Given the description of an element on the screen output the (x, y) to click on. 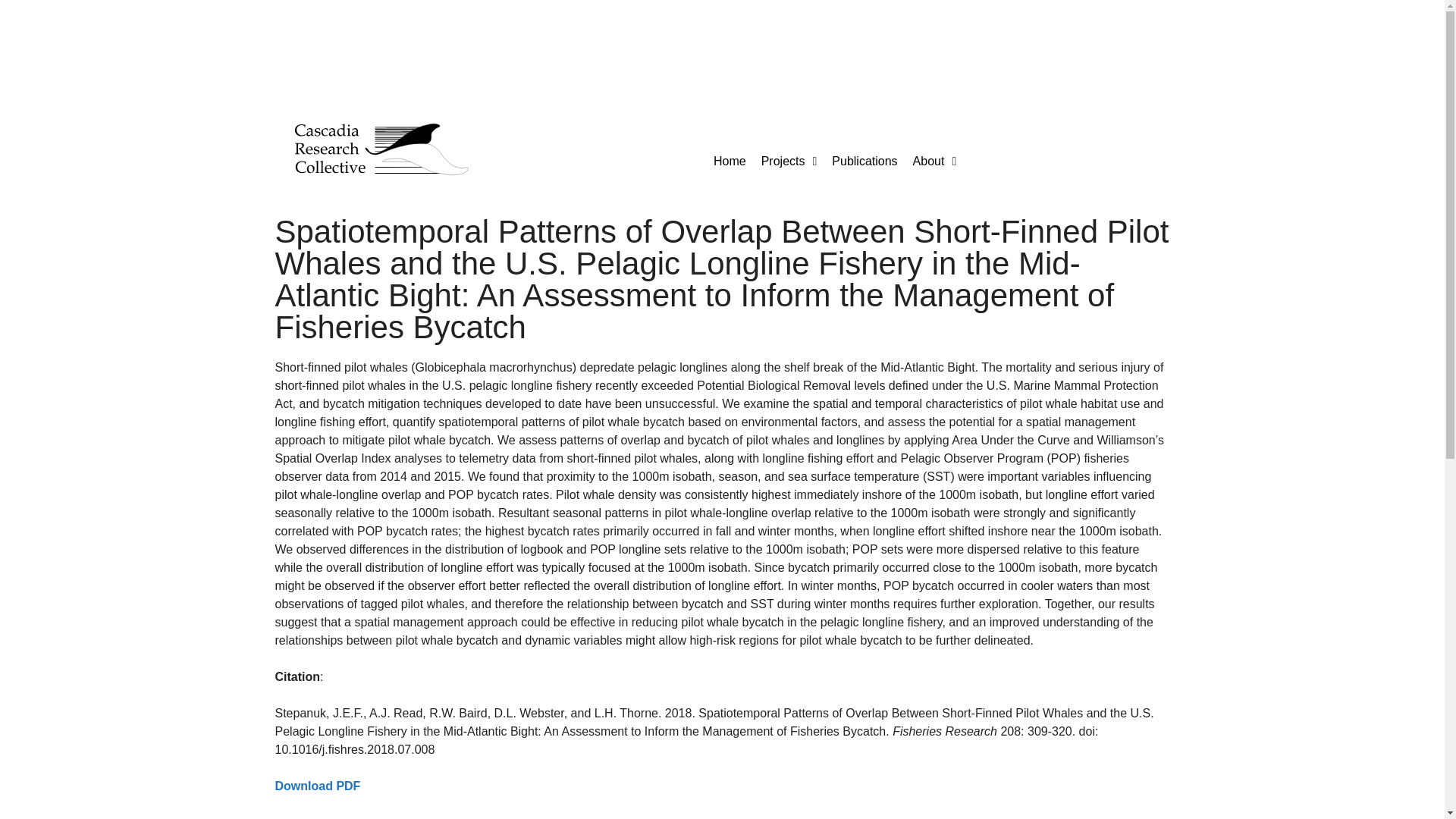
Home (730, 161)
Projects (789, 161)
